Given the description of an element on the screen output the (x, y) to click on. 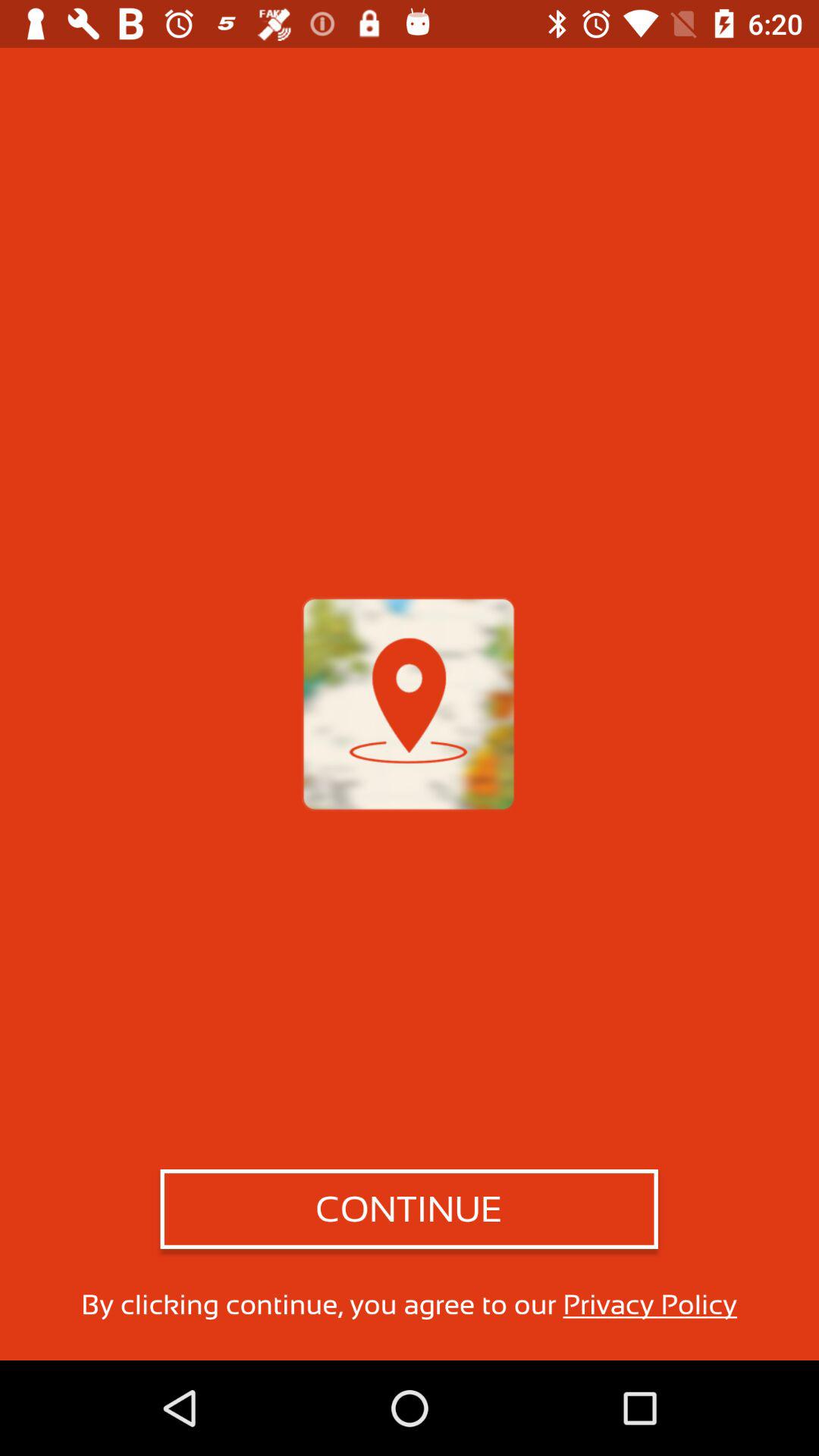
select item below continue (409, 1304)
